Given the description of an element on the screen output the (x, y) to click on. 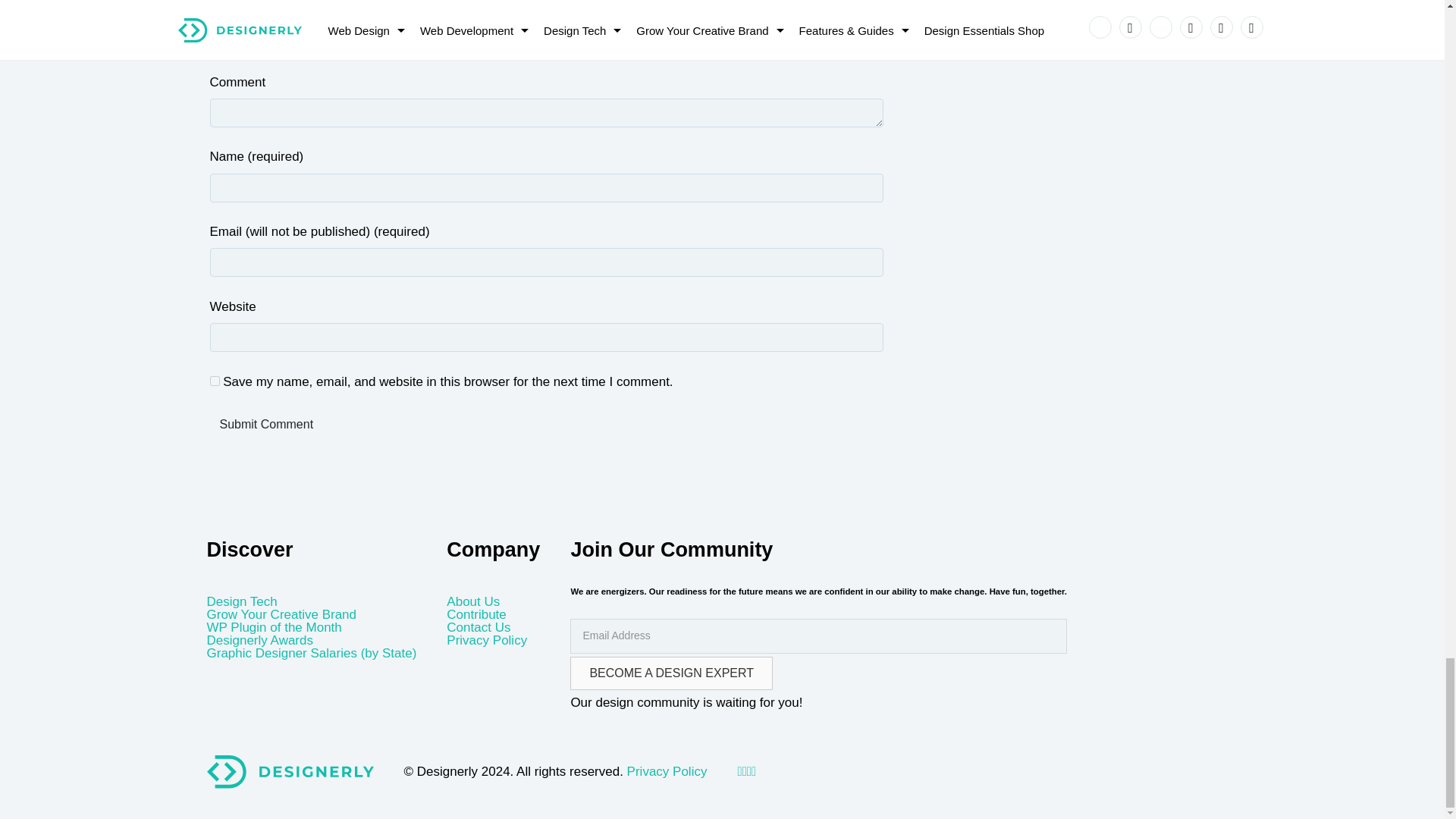
yes (214, 380)
Submit Comment (266, 424)
